Given the description of an element on the screen output the (x, y) to click on. 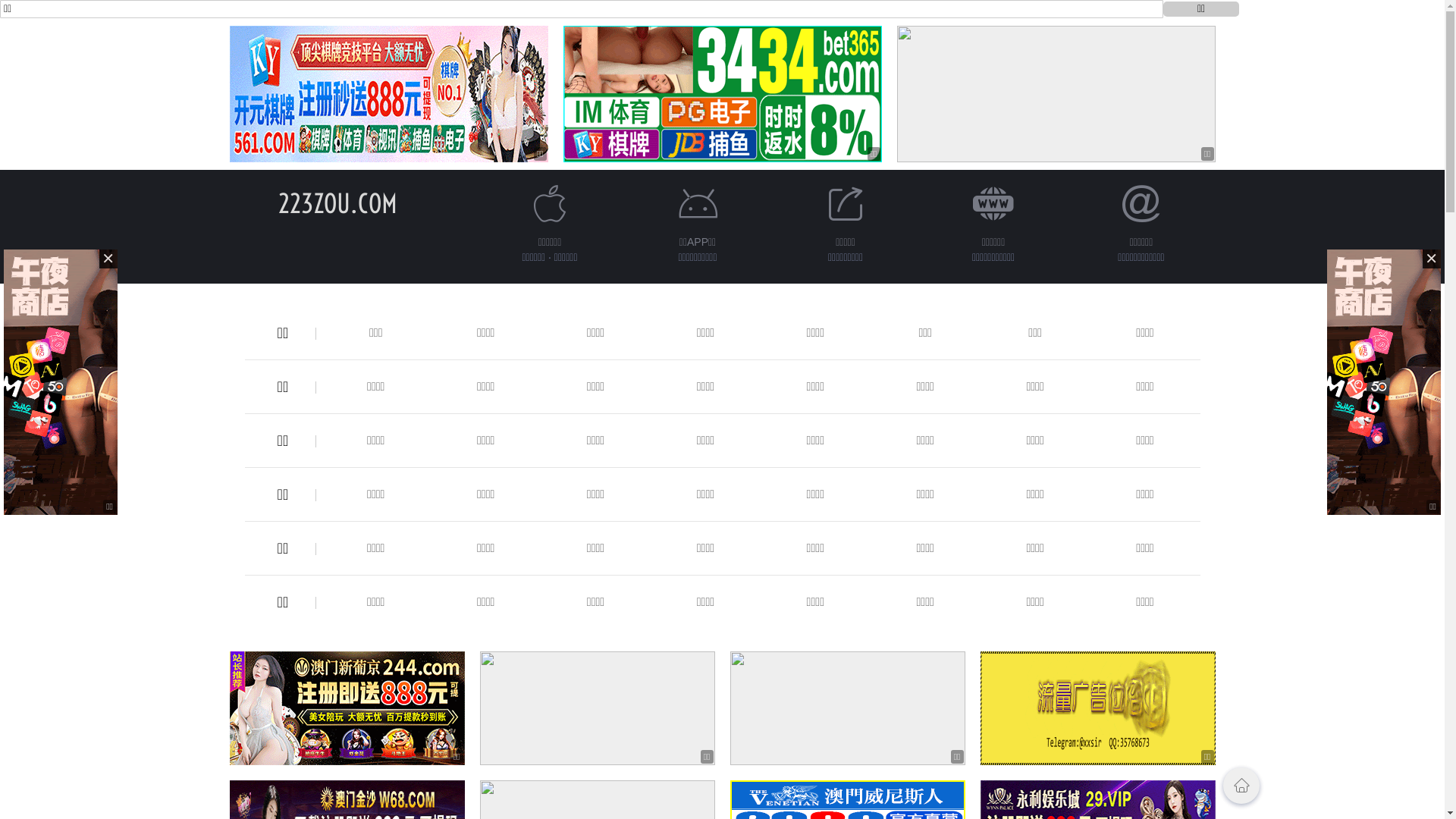
223ZOU.COM Element type: text (337, 203)
